Given the description of an element on the screen output the (x, y) to click on. 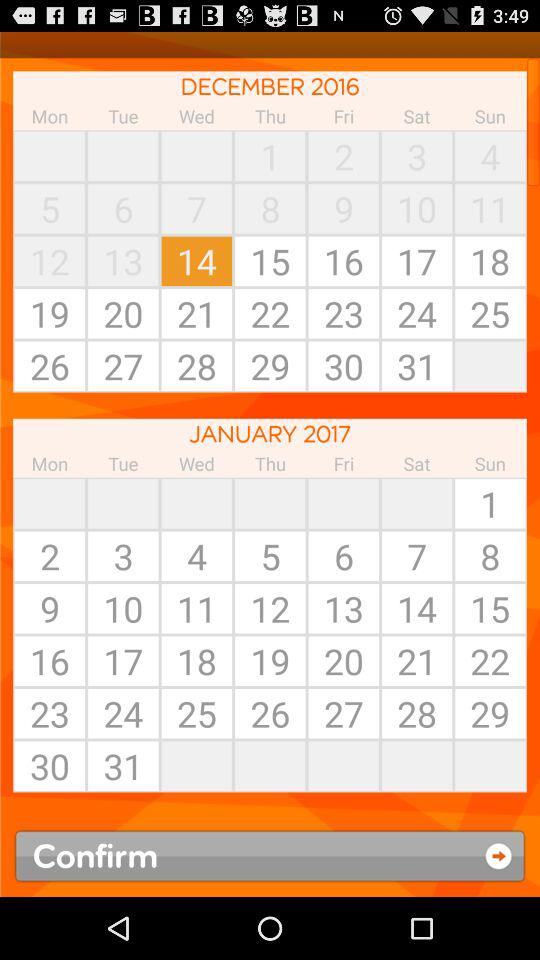
press icon below the fri item (417, 503)
